Given the description of an element on the screen output the (x, y) to click on. 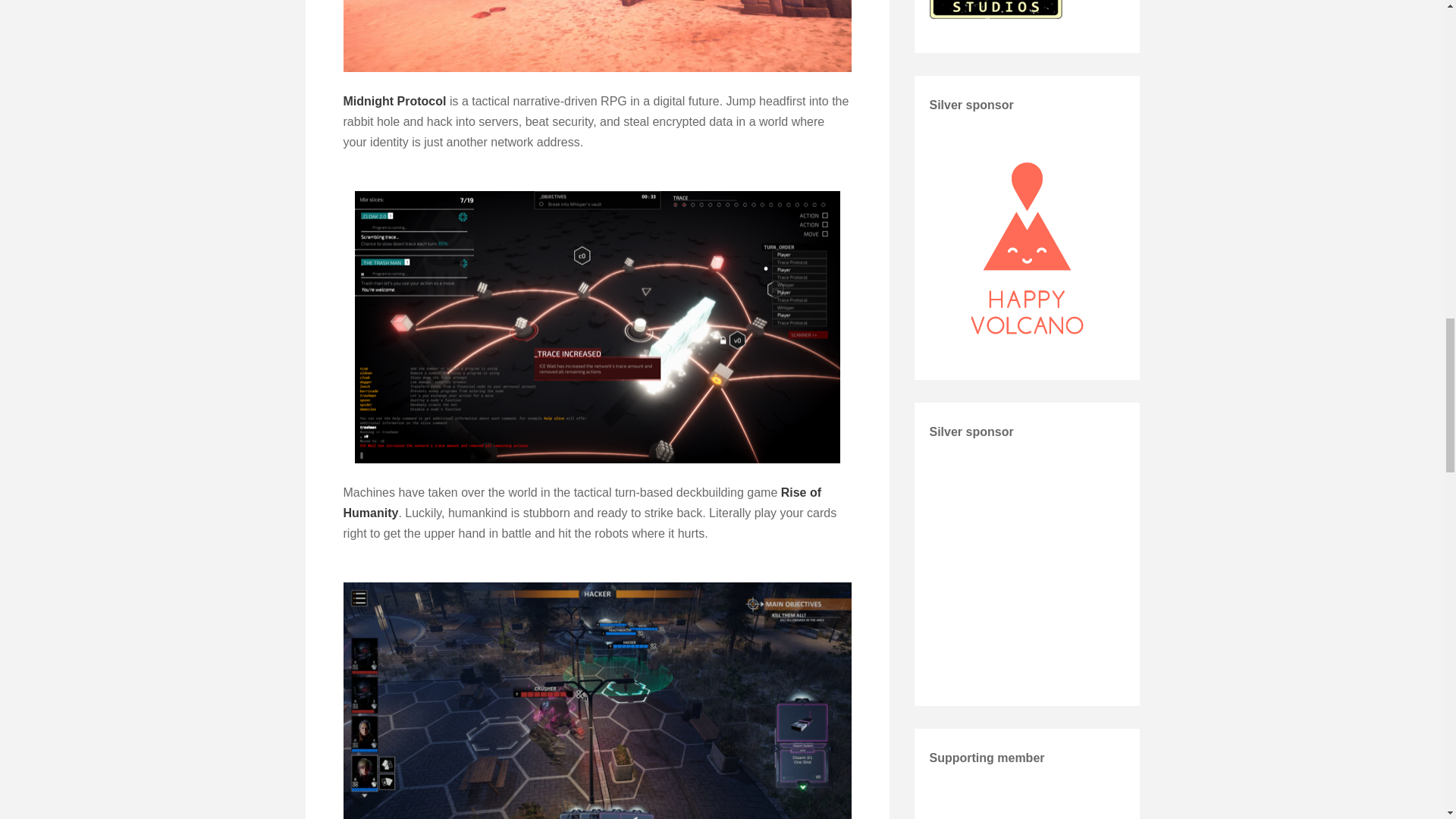
Midnight Protocol (393, 101)
Rise of Humanity (581, 502)
